Given the description of an element on the screen output the (x, y) to click on. 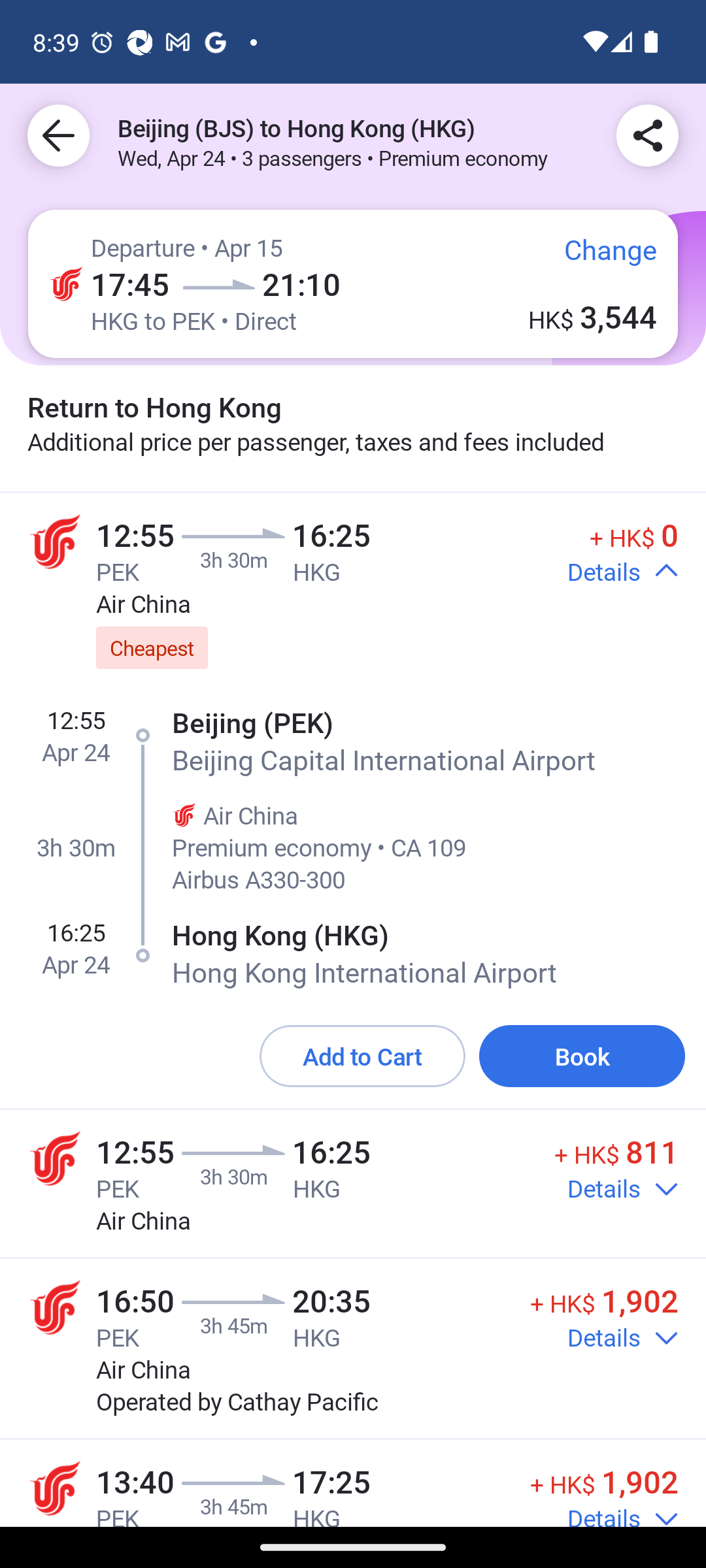
Change (596, 257)
Add to Cart (362, 1056)
Book (581, 1056)
